Given the description of an element on the screen output the (x, y) to click on. 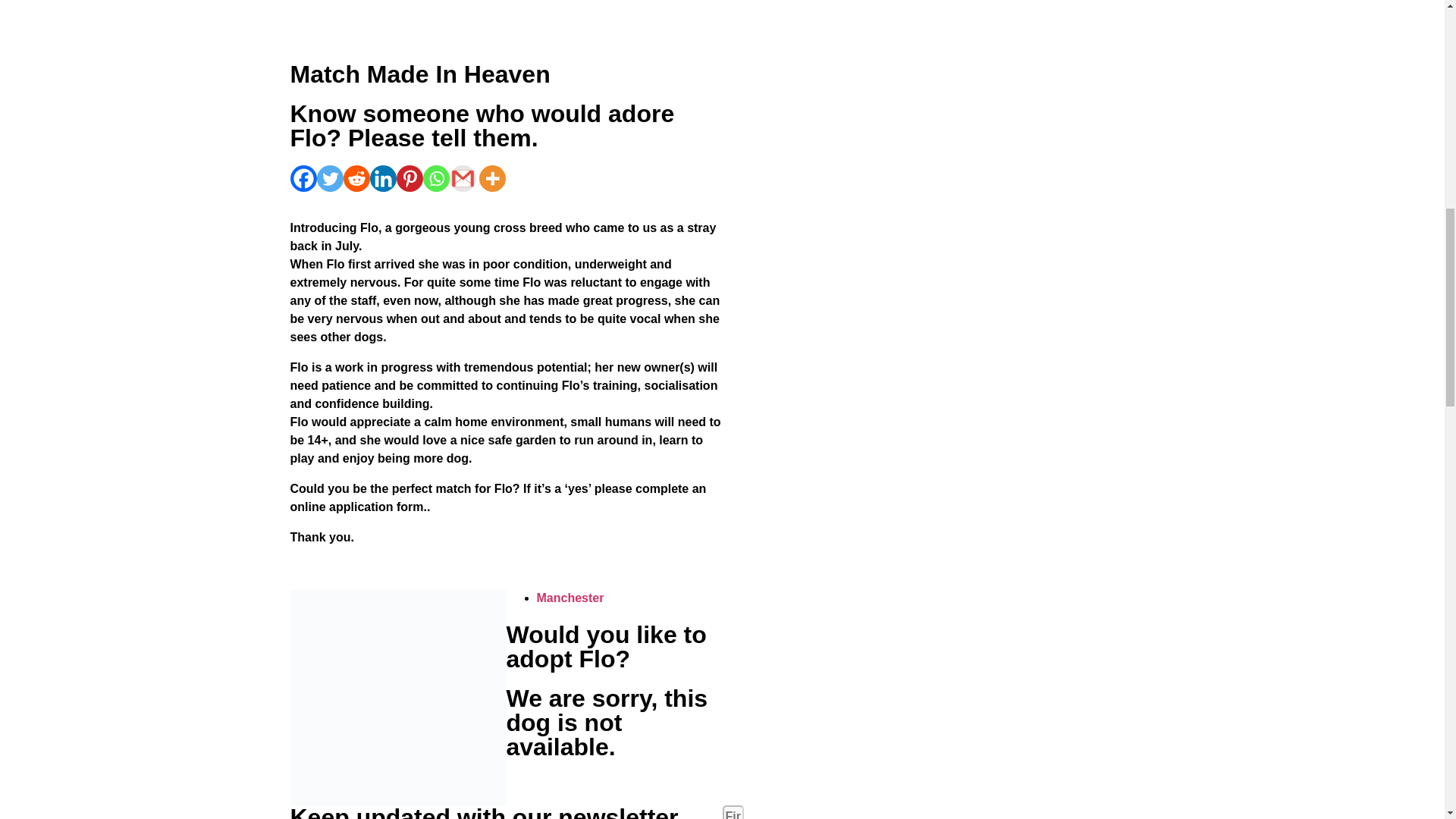
Twitter (330, 178)
Reddit (355, 178)
Google Gmail (462, 178)
Whatsapp (436, 178)
Linkedin (382, 178)
flo4 (397, 696)
More (492, 178)
Facebook (302, 178)
Pinterest (409, 178)
